Given the description of an element on the screen output the (x, y) to click on. 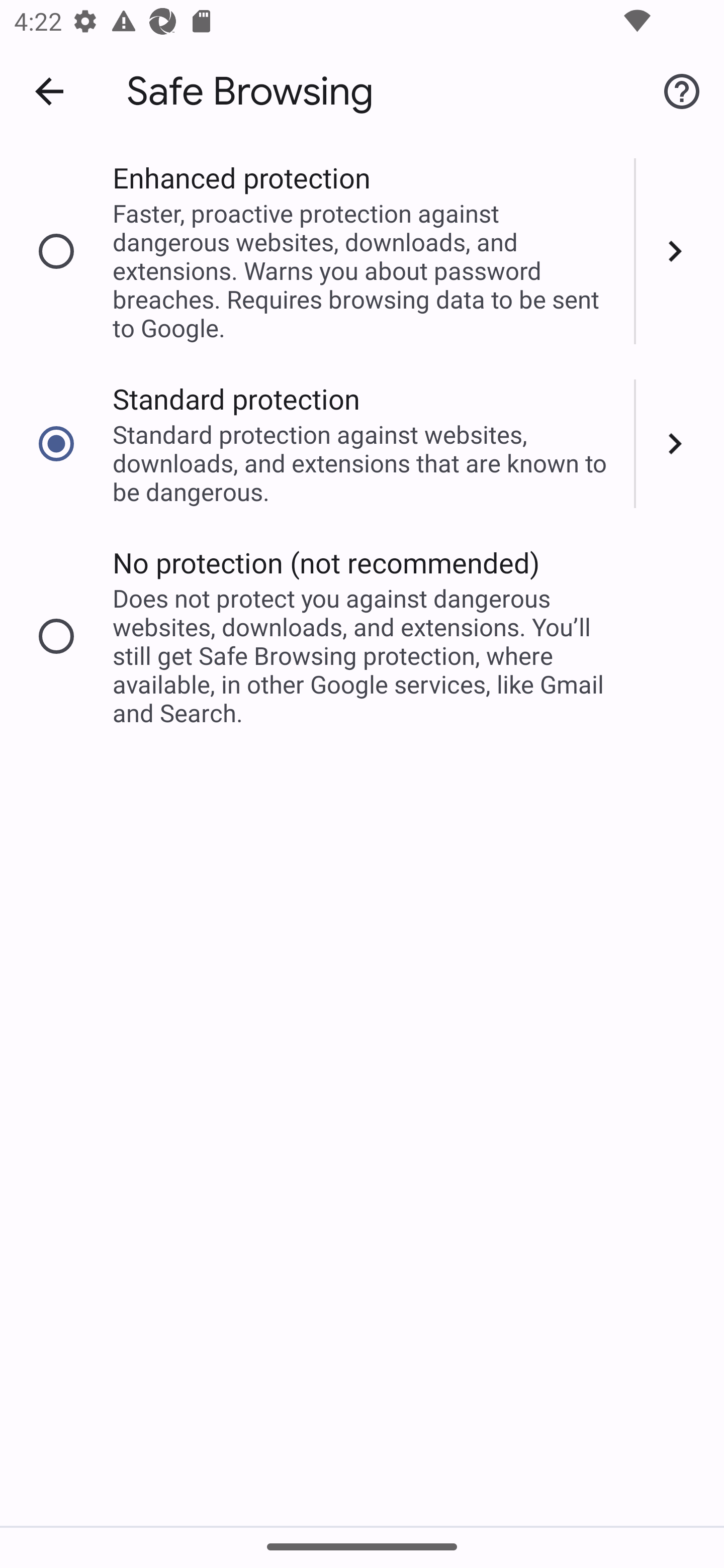
Navigate up (49, 91)
Help & feedback (681, 90)
Expand (679, 251)
Expand (679, 443)
